Given the description of an element on the screen output the (x, y) to click on. 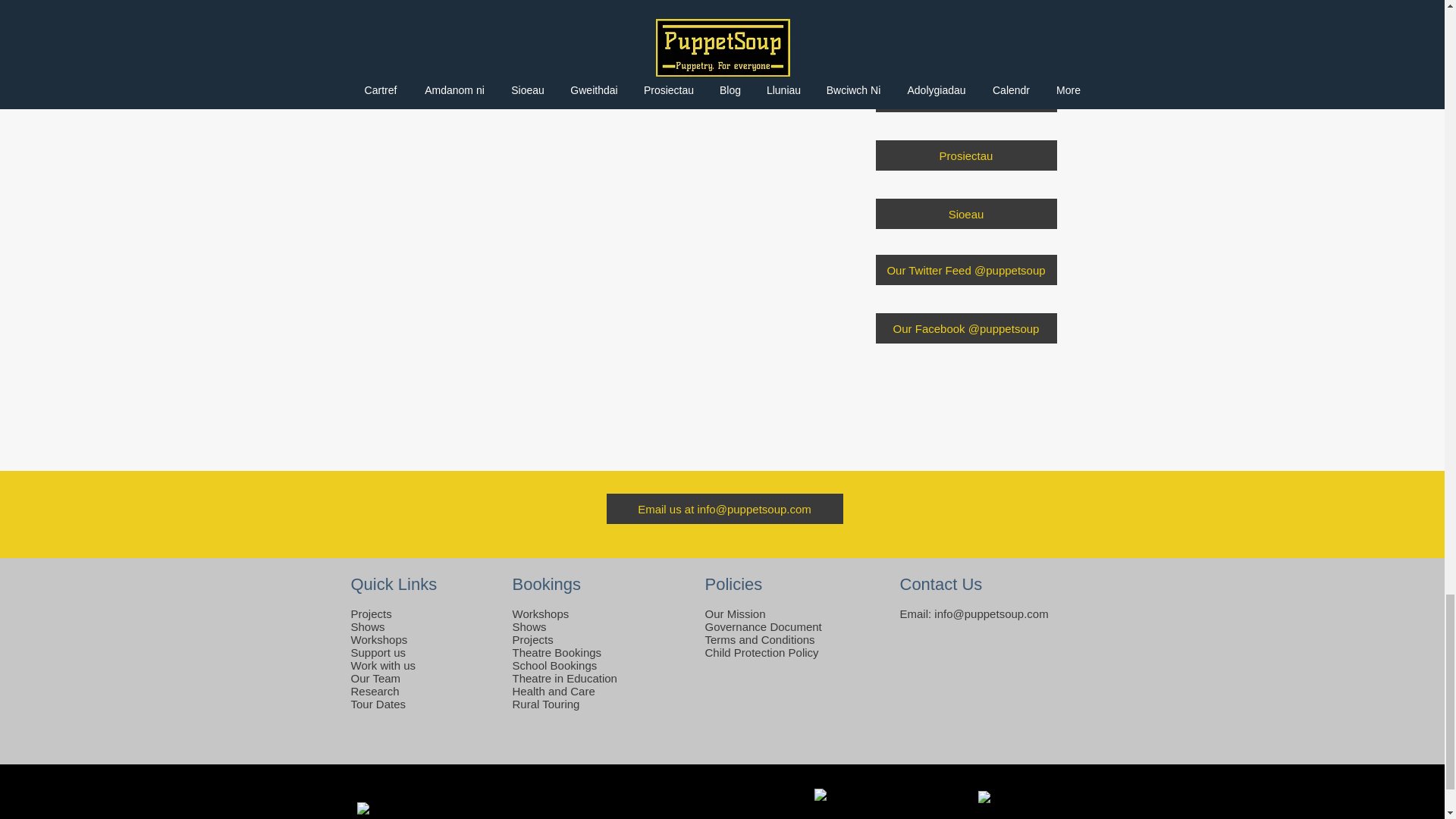
Governance Document (763, 626)
Prosiectau (966, 155)
Tour Dates (378, 703)
Shows (529, 626)
Health and Care (553, 690)
Rural Touring (545, 703)
Work with us (382, 665)
Theatre in Education (564, 677)
Our Mission (734, 613)
Workshops (378, 639)
Projects (370, 613)
Projects (532, 639)
Child Protection Policy (761, 652)
Workshops (540, 613)
Sioeau (966, 214)
